Given the description of an element on the screen output the (x, y) to click on. 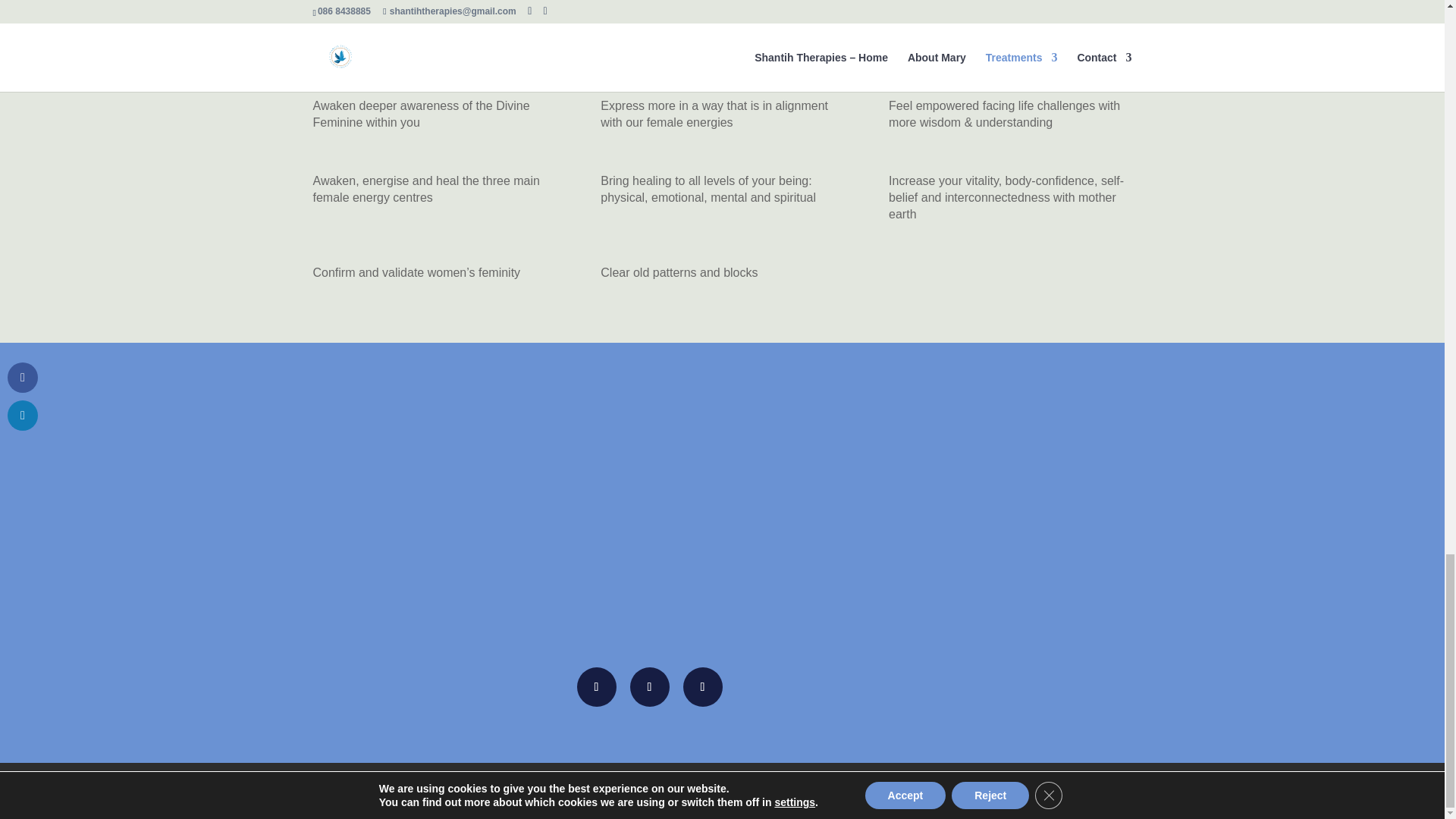
Follow on Instagram (648, 686)
Follow on Pinterest (702, 686)
Follow on Facebook (595, 686)
